Given the description of an element on the screen output the (x, y) to click on. 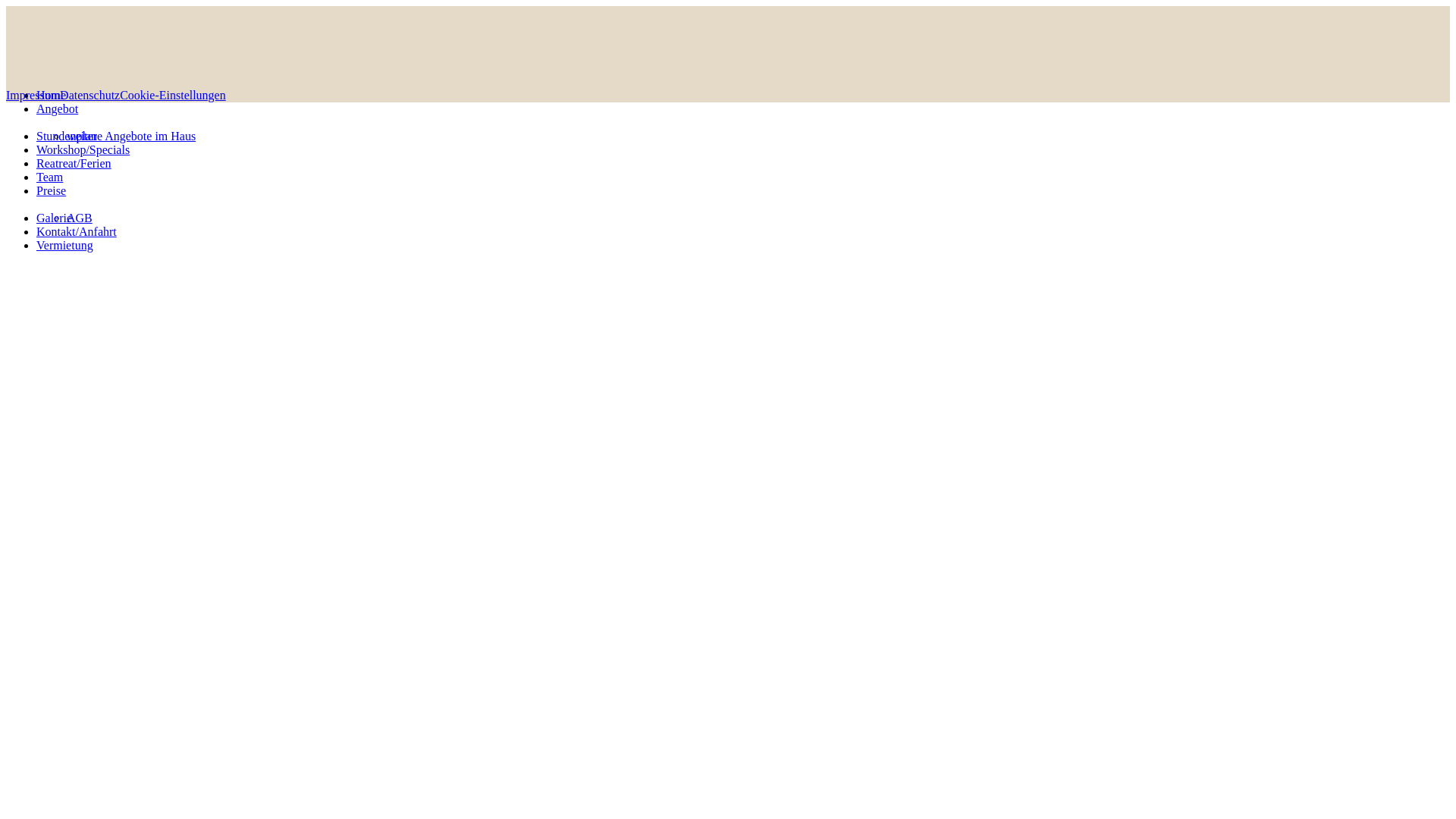
Angebot Element type: text (57, 108)
Cookie-Einstellungen Element type: text (172, 94)
Home Element type: text (50, 94)
AGB Element type: text (79, 217)
Team Element type: text (49, 176)
Reatreat/Ferien Element type: text (73, 162)
Datenschutz Element type: text (89, 94)
Workshop/Specials Element type: text (82, 149)
Impressum Element type: text (32, 94)
Stundenplan Element type: text (66, 135)
Kontakt/Anfahrt Element type: text (76, 231)
Vermietung Element type: text (64, 244)
Preise Element type: text (50, 190)
weitere Angebote im Haus Element type: text (130, 135)
Galerie Element type: text (54, 217)
